Given the description of an element on the screen output the (x, y) to click on. 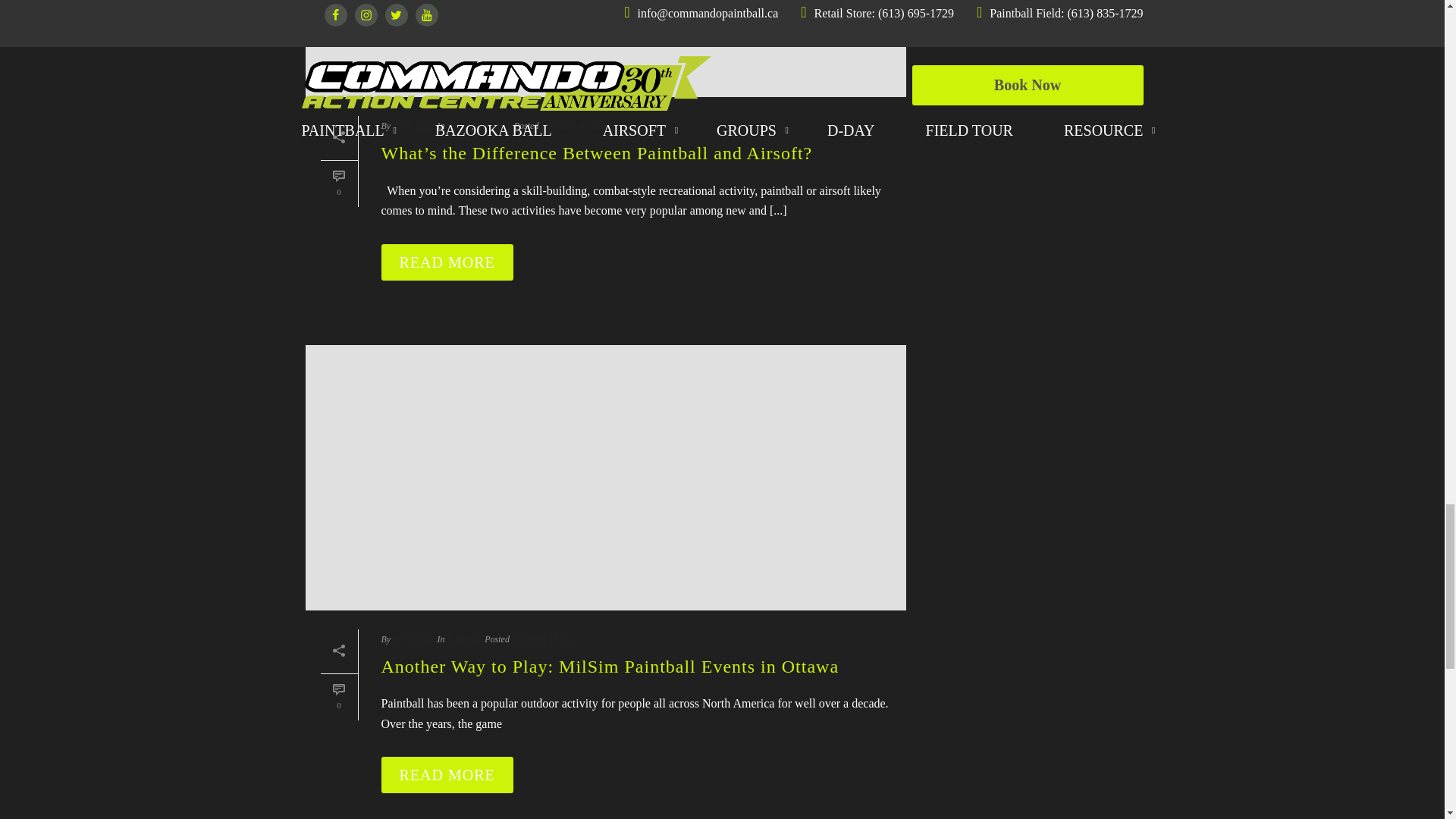
READ MORE (446, 262)
READ MORE (446, 774)
